Given the description of an element on the screen output the (x, y) to click on. 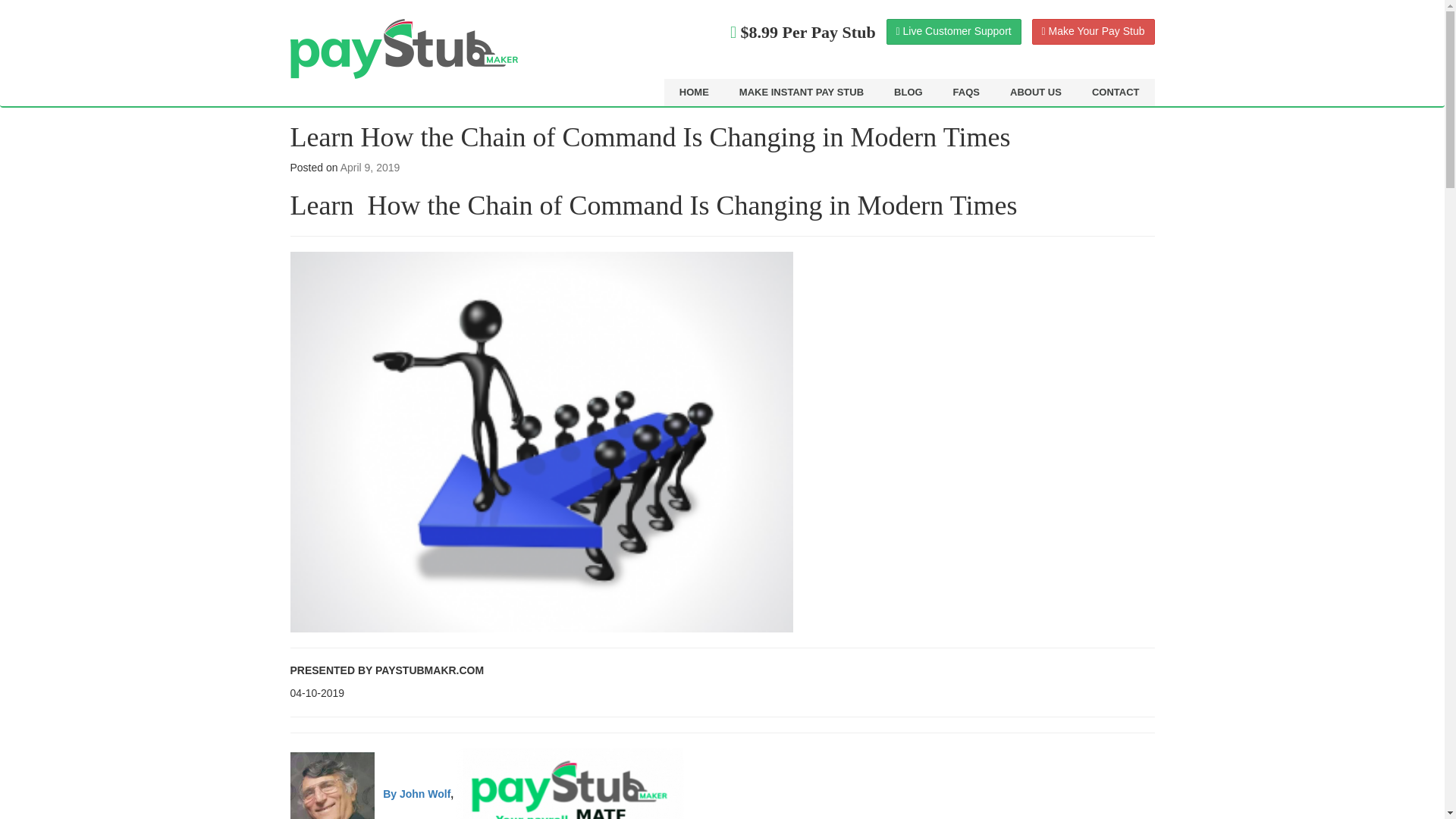
CONTACT (1115, 92)
FAQs (965, 92)
By John Wolf (415, 793)
HOME (693, 92)
Make Your Pay Stub (1093, 31)
CONTACT (1115, 92)
MAKE INSTANT PAY STUB (801, 92)
ABOUT US (1035, 92)
Pay Stub Maker (402, 48)
FAQS (965, 92)
